Given the description of an element on the screen output the (x, y) to click on. 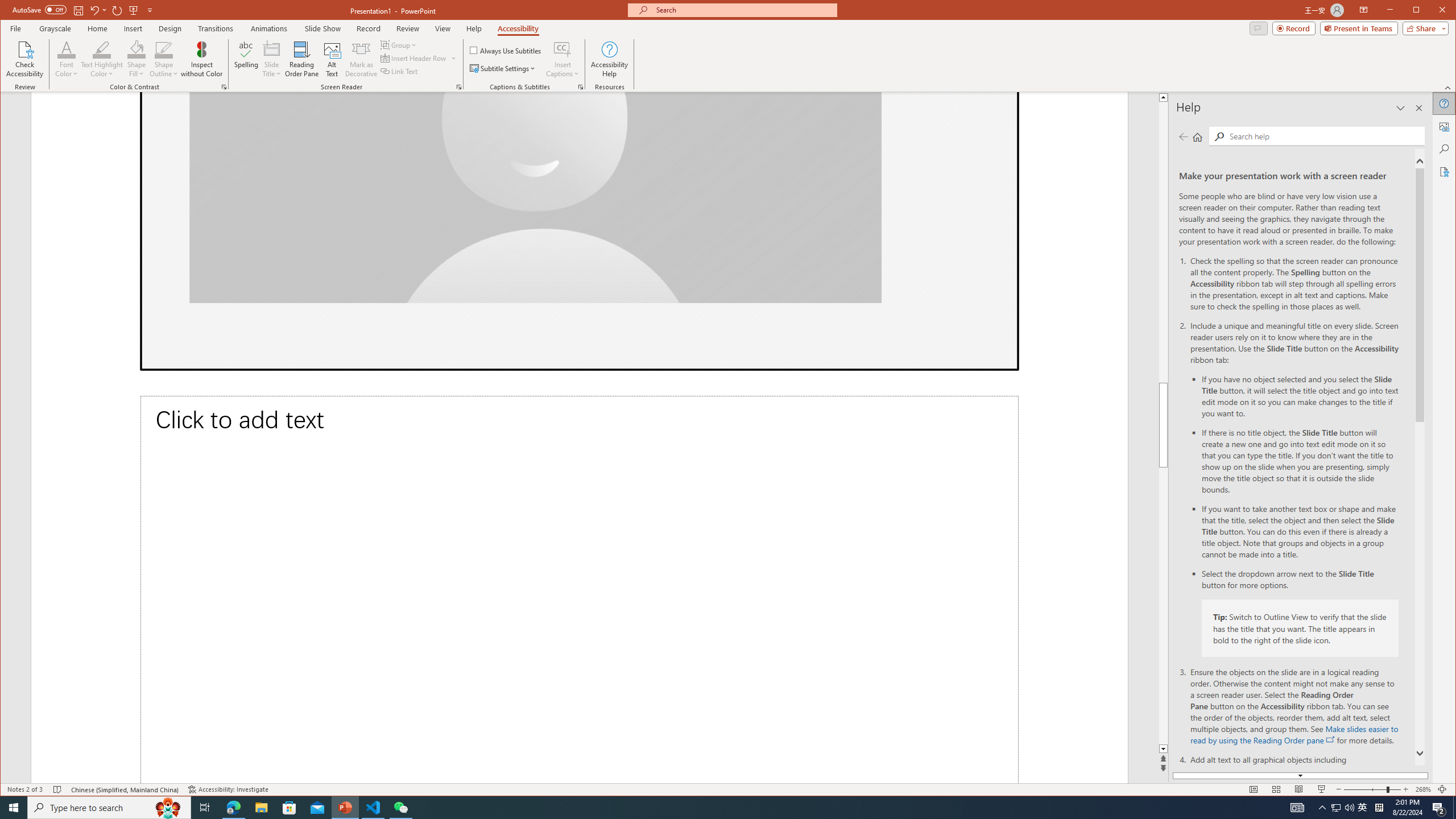
Captions & Subtitles (580, 86)
Previous page (1183, 136)
Insert Header Row (413, 57)
Mark as Decorative (360, 59)
